Given the description of an element on the screen output the (x, y) to click on. 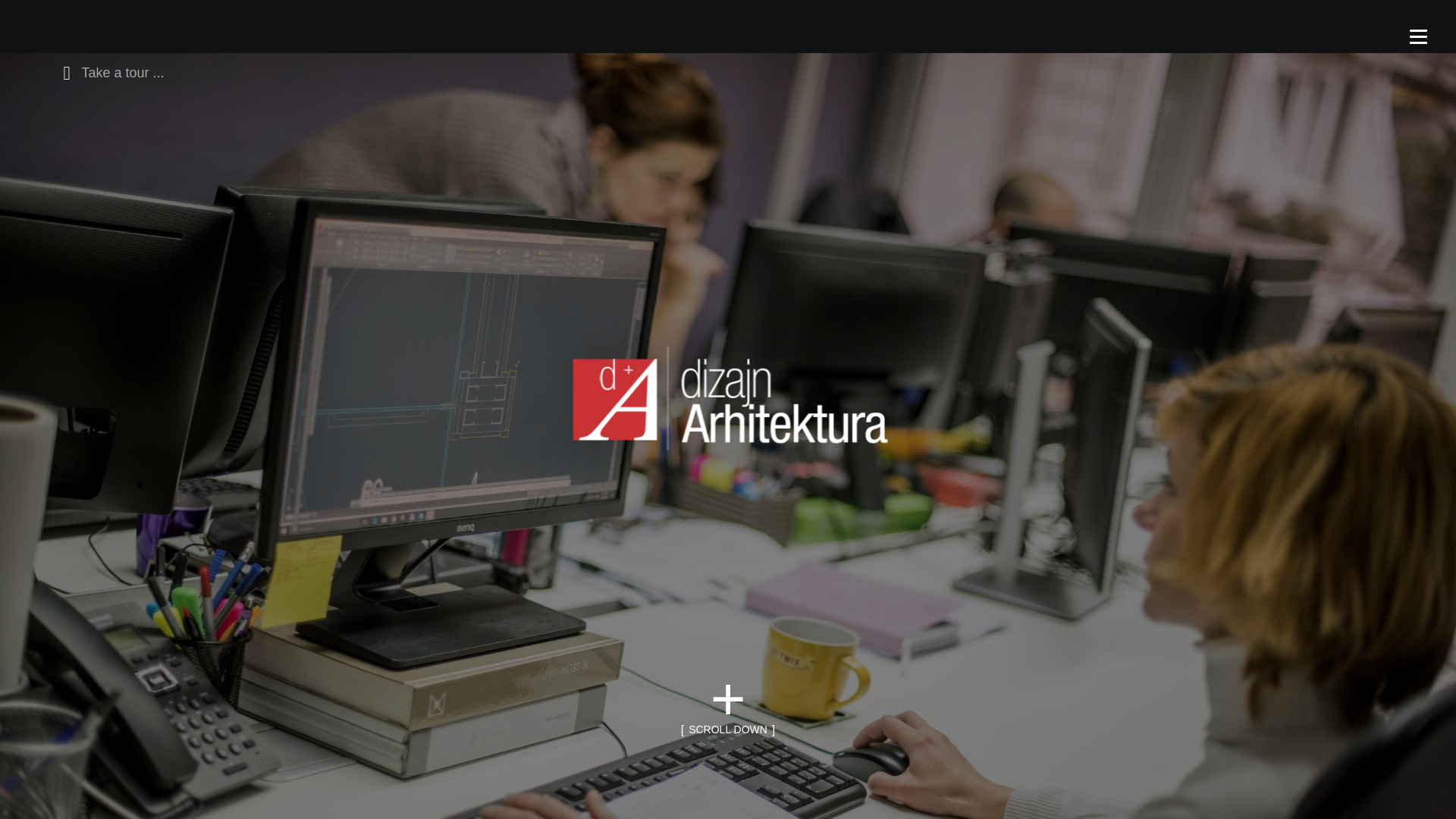
Take a tour ... (109, 70)
SCROLL DOWN (727, 730)
